Given the description of an element on the screen output the (x, y) to click on. 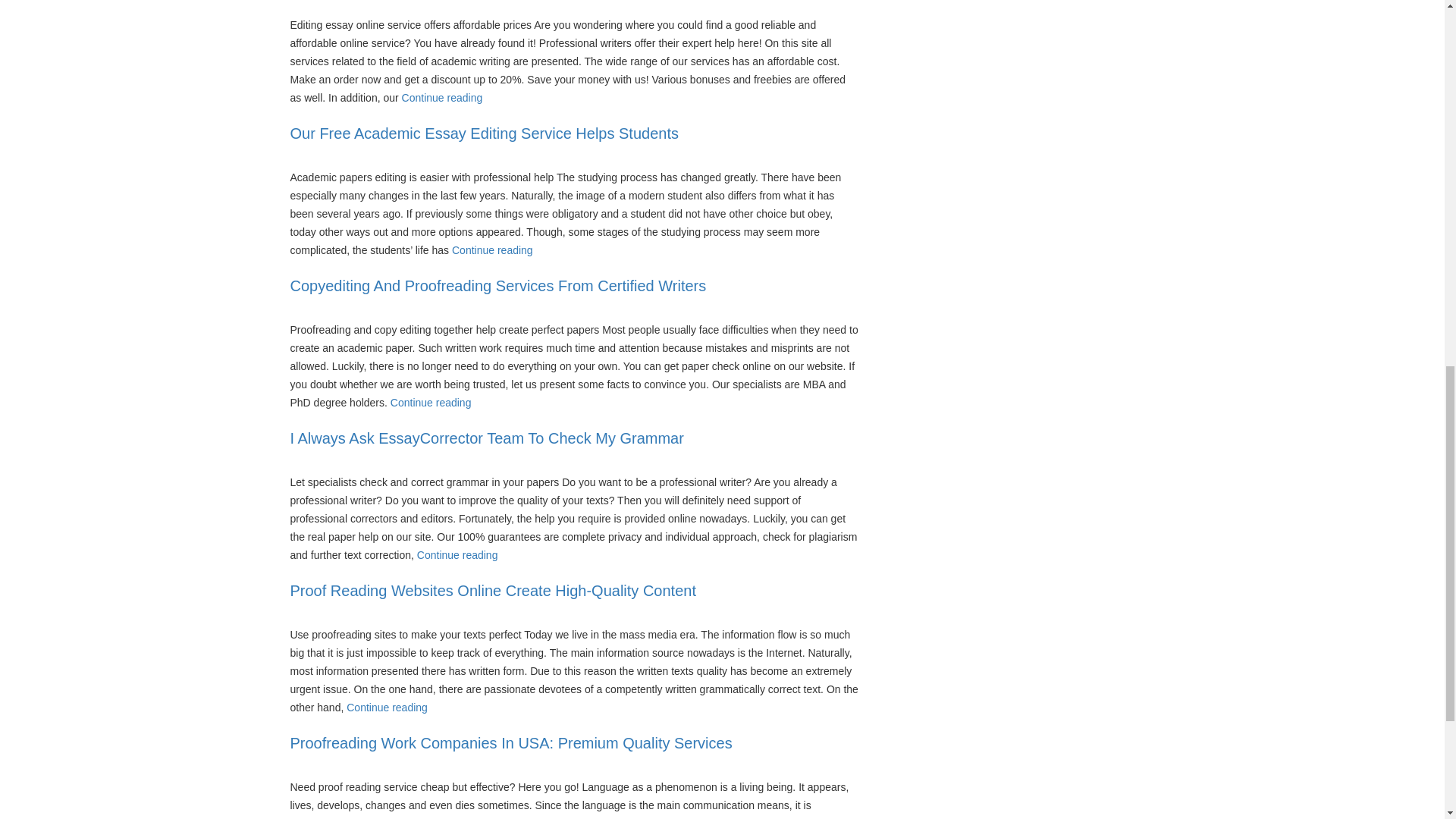
Proofreading Work Companies In USA: Premium Quality Services (510, 742)
I Always Ask EssayCorrector Team To Check My Grammar (485, 437)
Proof Reading Websites Online Create High-Quality Content (387, 707)
Proof Reading Websites Online Create High-Quality Content (492, 590)
Continue reading (430, 402)
Our Free Academic Essay Editing Service Helps Students (491, 250)
Copyediting And Proofreading Services From Certified Writers (497, 285)
Continue reading (491, 250)
Essays Editing For Cheap Is Possible Here! (442, 97)
Continue reading (442, 97)
